Given the description of an element on the screen output the (x, y) to click on. 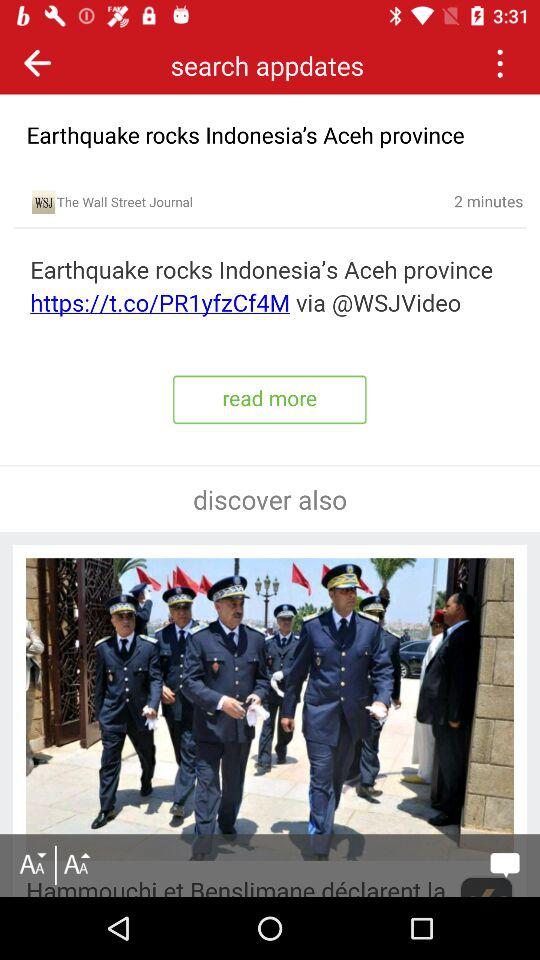
go to previous (37, 62)
